Given the description of an element on the screen output the (x, y) to click on. 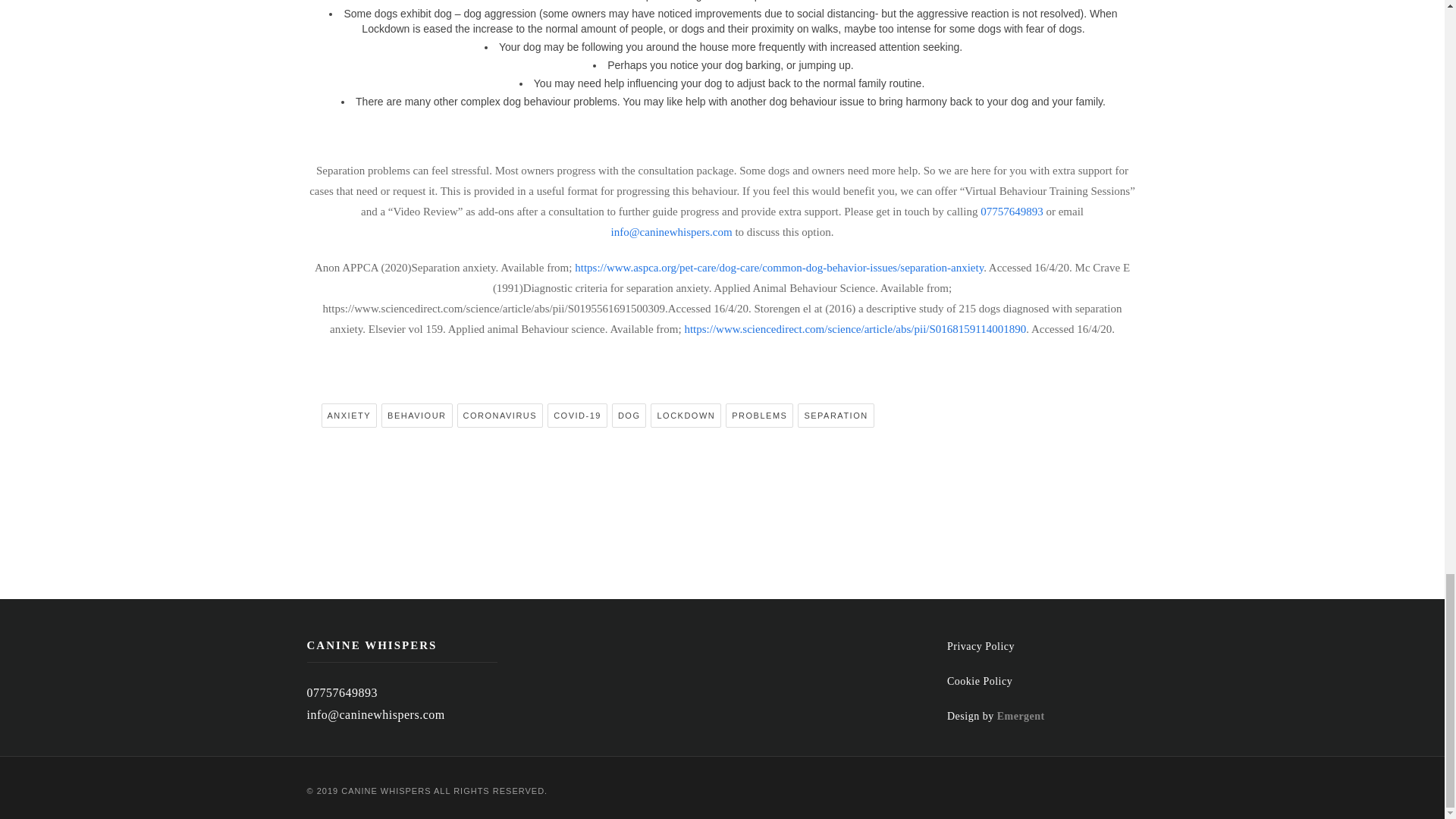
ANXIETY (349, 415)
COVID-19 (577, 415)
DOG (628, 415)
SEPARATION (835, 415)
LOCKDOWN (685, 415)
BEHAVIOUR (416, 415)
CORONAVIRUS (500, 415)
Emergent (1021, 715)
Privacy Policy (980, 645)
Cookie Policy (979, 681)
